Given the description of an element on the screen output the (x, y) to click on. 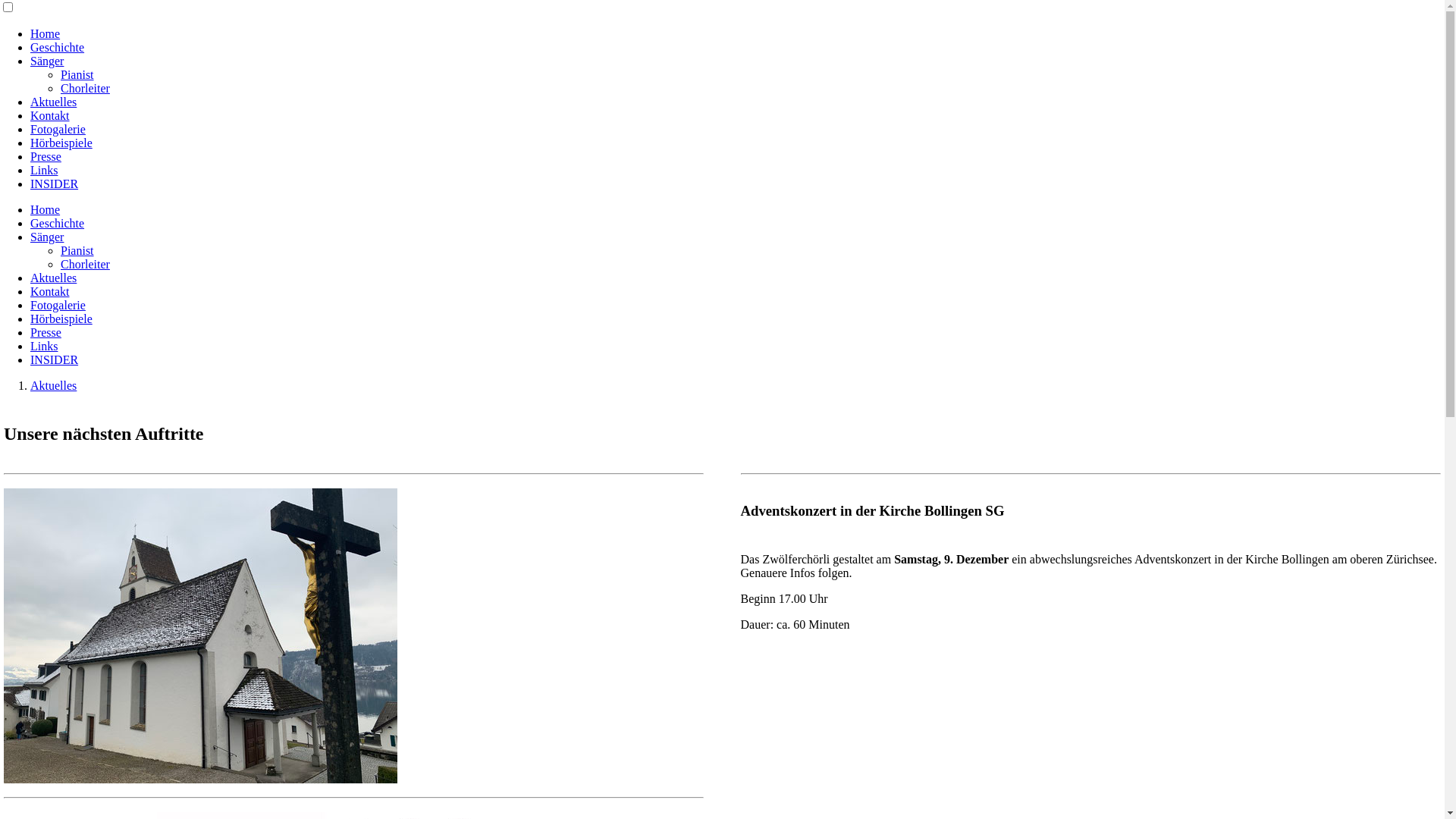
Aktuelles Element type: text (53, 101)
Home Element type: text (44, 209)
Presse Element type: text (45, 156)
Home Element type: text (44, 33)
Presse Element type: text (45, 332)
Kontakt Element type: text (49, 115)
Geschichte Element type: text (57, 46)
Pianist Element type: text (77, 74)
Fotogalerie Element type: text (57, 128)
Chorleiter Element type: text (84, 87)
Links Element type: text (43, 169)
Kontakt Element type: text (49, 291)
Geschichte Element type: text (57, 222)
Aktuelles Element type: text (53, 277)
Chorleiter Element type: text (84, 263)
Aktuelles Element type: text (53, 385)
Pianist Element type: text (77, 250)
INSIDER Element type: text (54, 359)
Fotogalerie Element type: text (57, 304)
INSIDER Element type: text (54, 183)
Links Element type: text (43, 345)
